Given the description of an element on the screen output the (x, y) to click on. 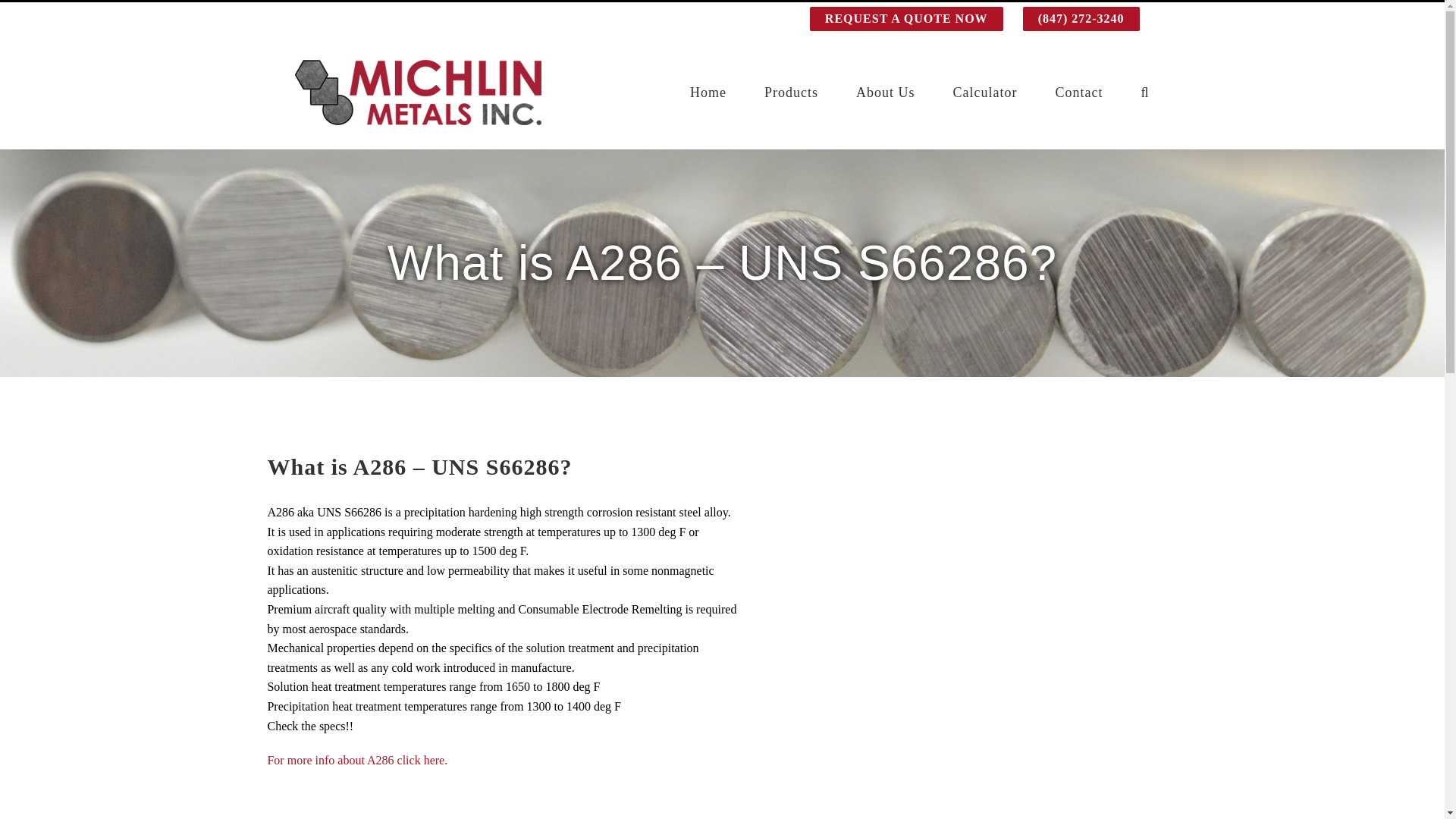
YouTube video player 1 (494, 802)
REQUEST A QUOTE NOW (906, 19)
